Given the description of an element on the screen output the (x, y) to click on. 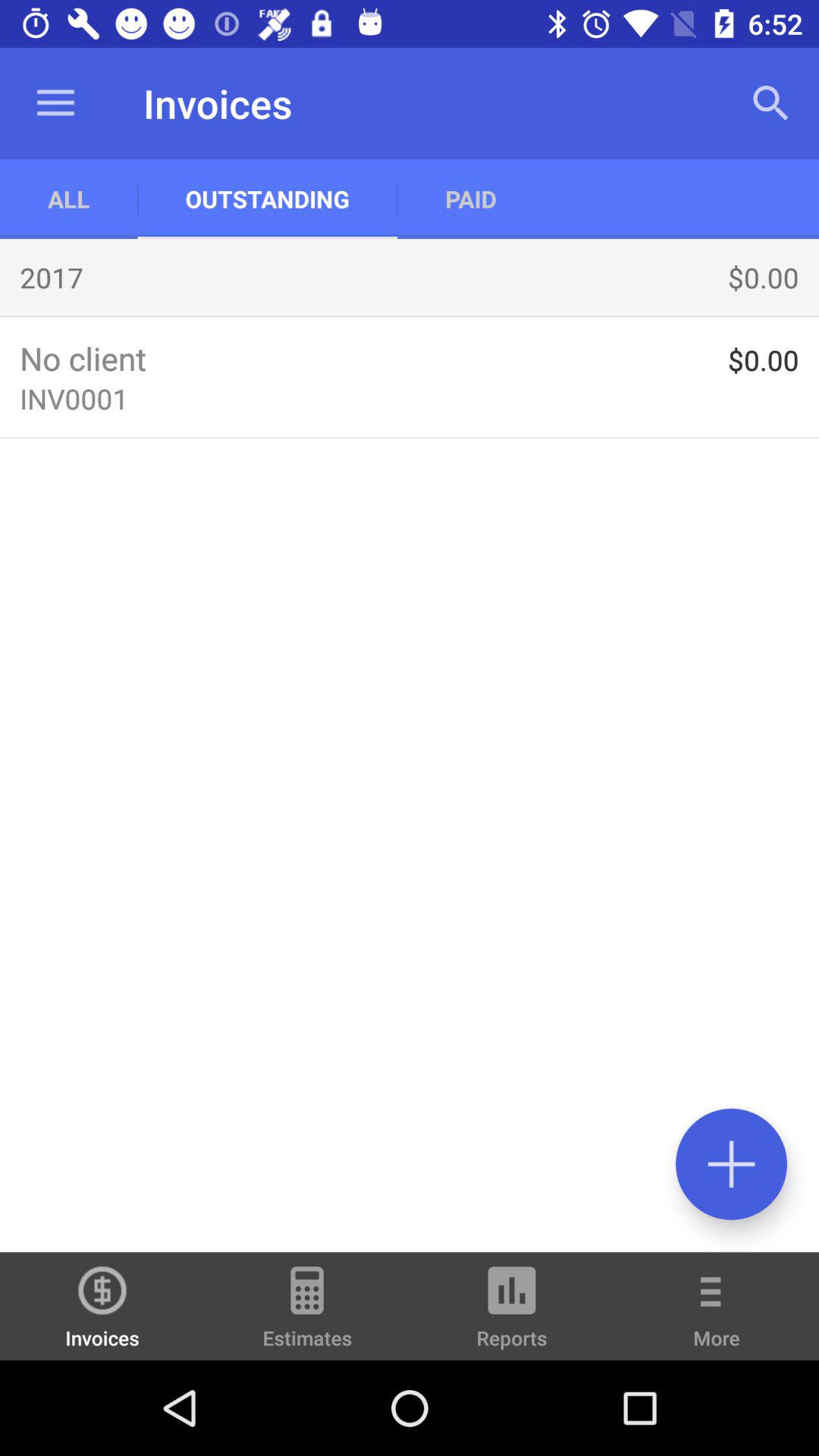
tap app next to paid (771, 103)
